Given the description of an element on the screen output the (x, y) to click on. 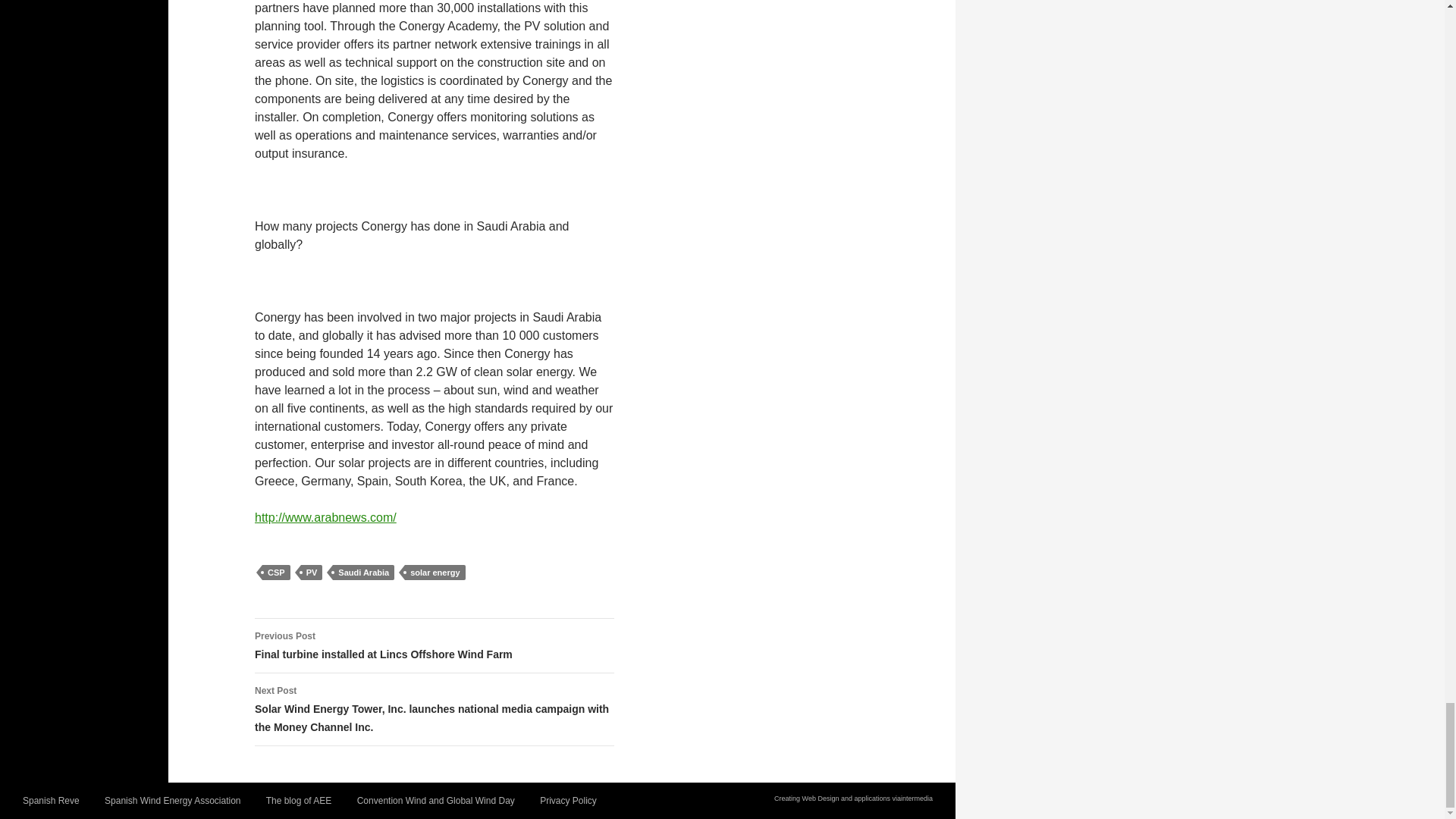
CSP (275, 572)
solar energy (434, 572)
Saudi Arabia (363, 572)
PV (312, 572)
